Given the description of an element on the screen output the (x, y) to click on. 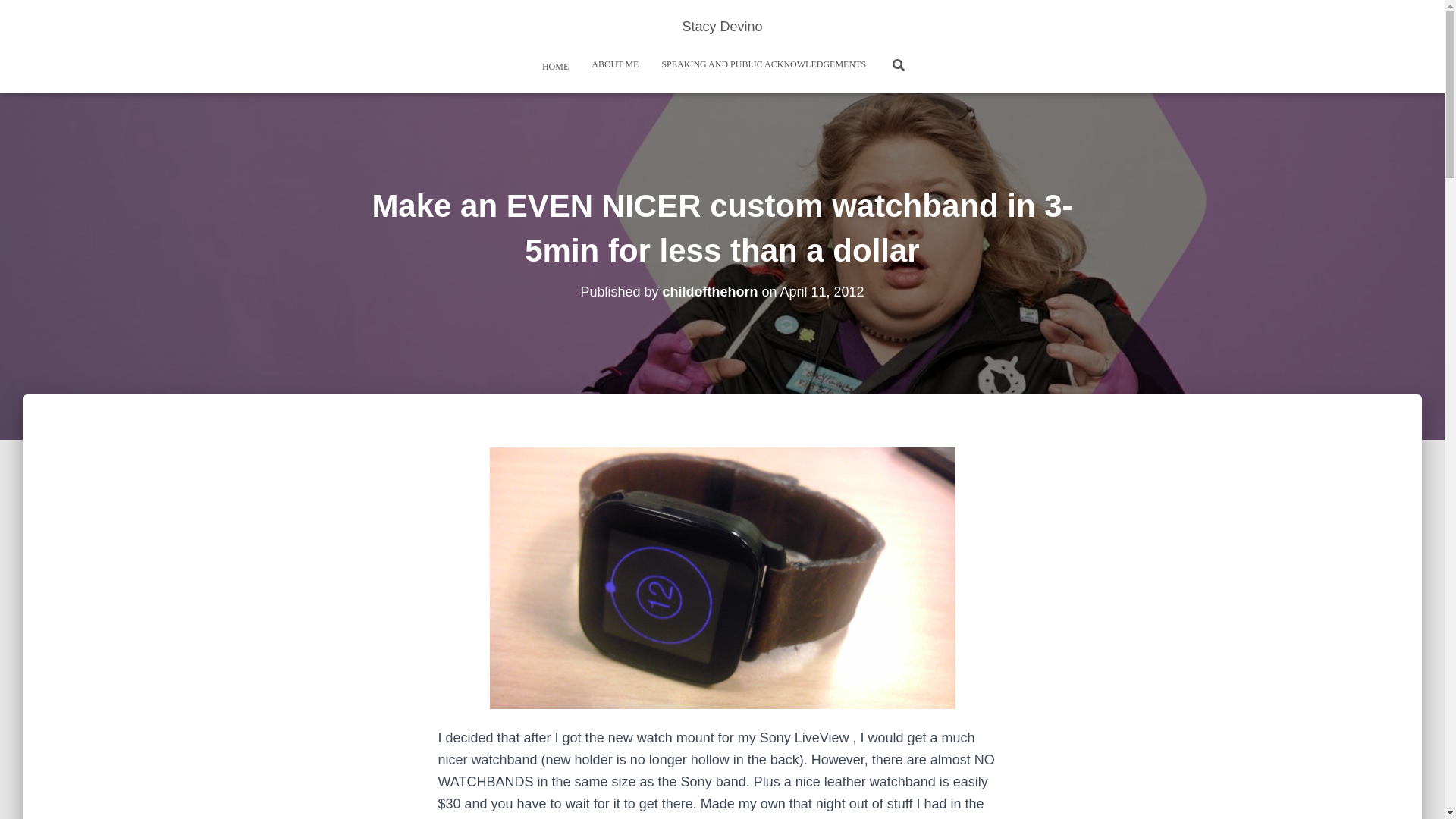
ABOUT ME (614, 64)
childofthehorn (709, 291)
SPEAKING AND PUBLIC ACKNOWLEDGEMENTS (763, 64)
Stacy Devino (721, 26)
IMAG0469 (722, 578)
Speaking and Public Acknowledgements (763, 64)
About Me (614, 64)
Home (552, 65)
Stacy Devino (721, 26)
 HOME (552, 65)
